Given the description of an element on the screen output the (x, y) to click on. 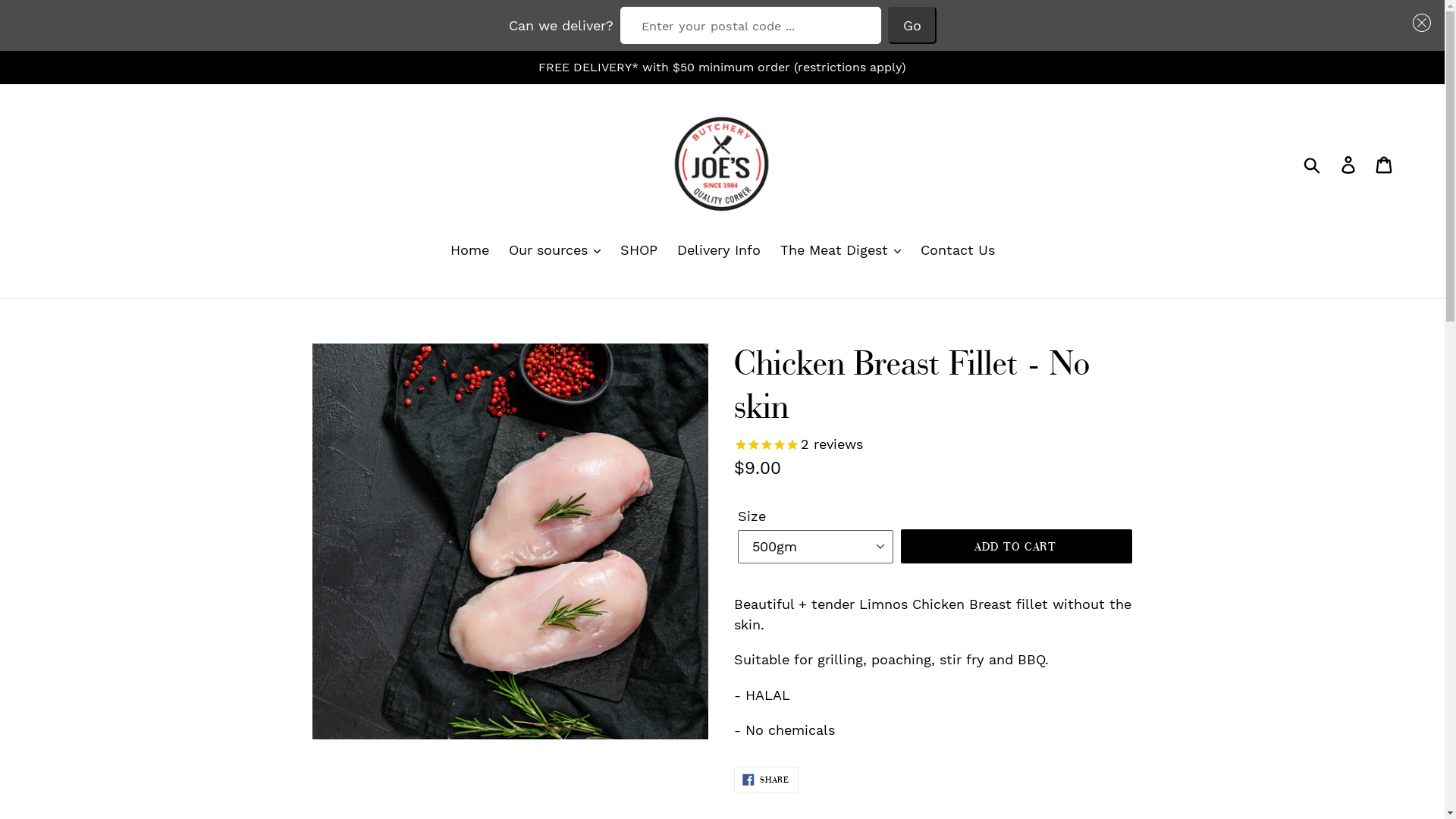
Go Element type: text (911, 24)
Delivery Info Element type: text (717, 250)
ADD TO CART Element type: text (1016, 545)
Contact Us Element type: text (957, 250)
Cart Element type: text (1384, 163)
Log in Element type: text (1349, 163)
Home Element type: text (469, 250)
FREE DELIVERY* with $50 minimum order (restrictions apply) Element type: text (722, 67)
SHOP Element type: text (638, 250)
SHARE
SHARE ON FACEBOOK Element type: text (766, 779)
Submit Element type: text (1312, 163)
